Given the description of an element on the screen output the (x, y) to click on. 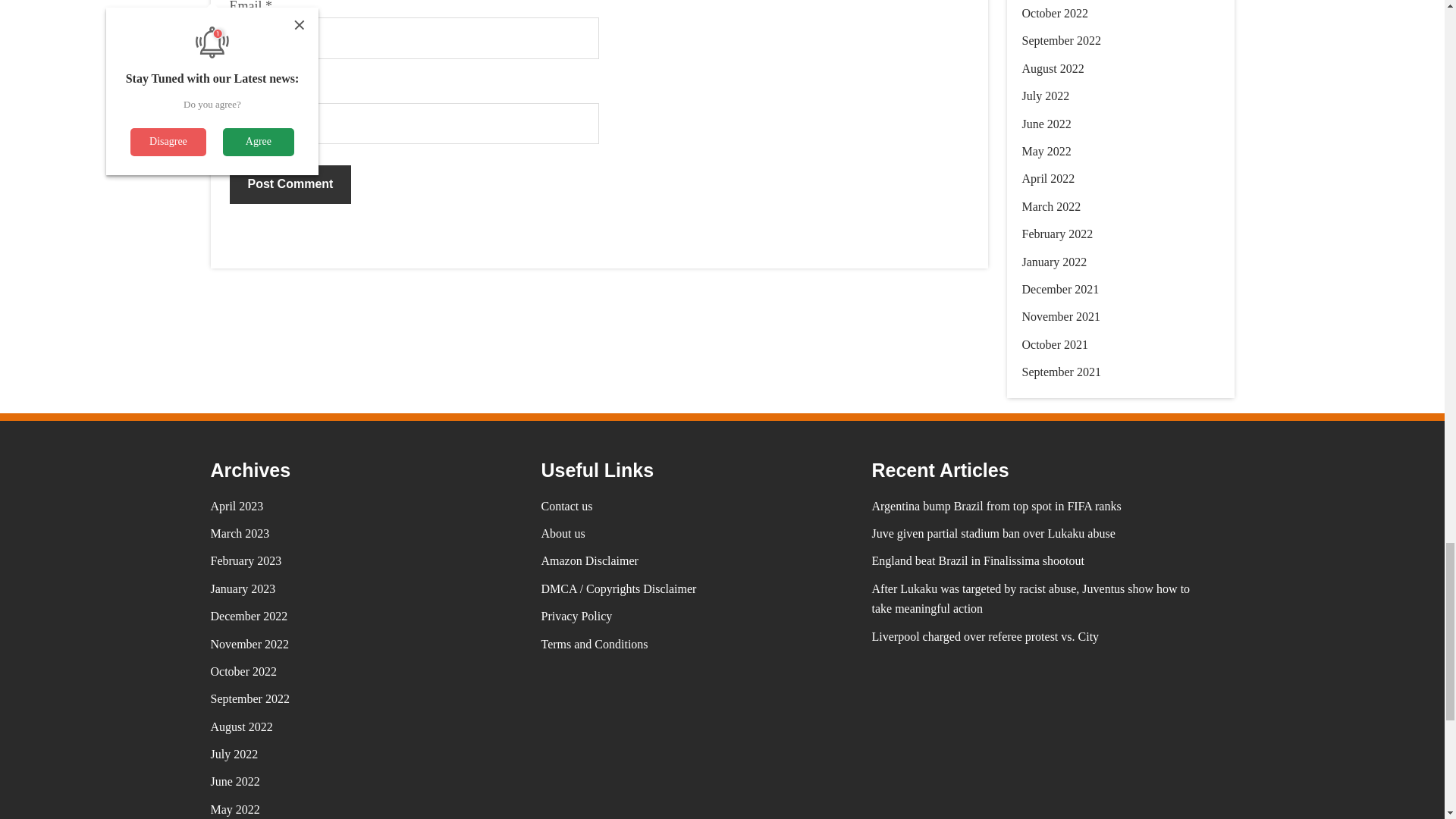
Post Comment (289, 184)
